Given the description of an element on the screen output the (x, y) to click on. 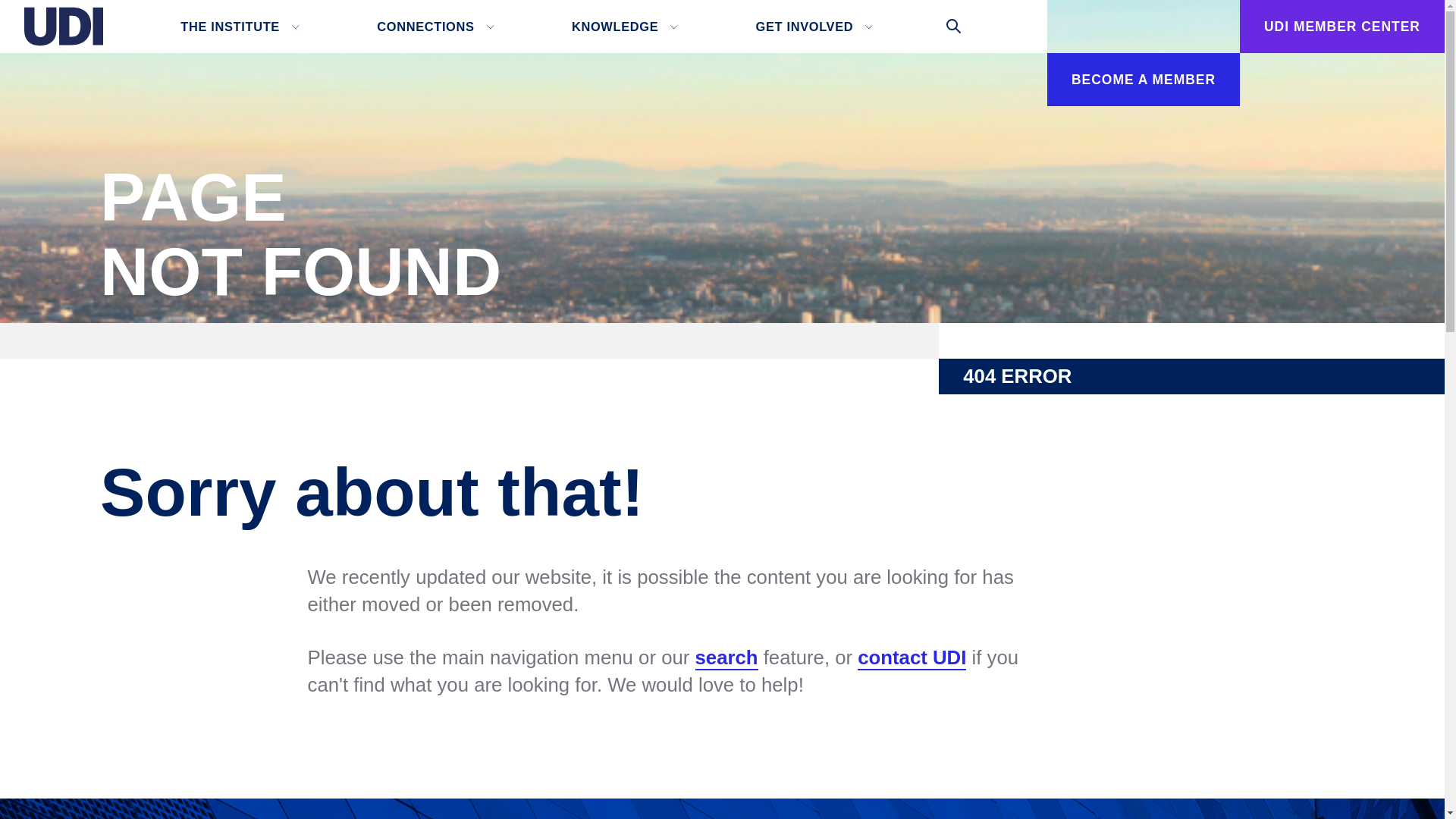
UDI MEMBER CENTER Element type: text (1341, 26)
contact UDI Element type: text (911, 658)
search Element type: text (726, 658)
KNOWLEDGE Element type: text (622, 26)
CONNECTIONS Element type: text (432, 26)
GET INVOLVED Element type: text (811, 26)
THE INSTITUTE Element type: text (237, 26)
BECOME A MEMBER Element type: text (1143, 79)
